Given the description of an element on the screen output the (x, y) to click on. 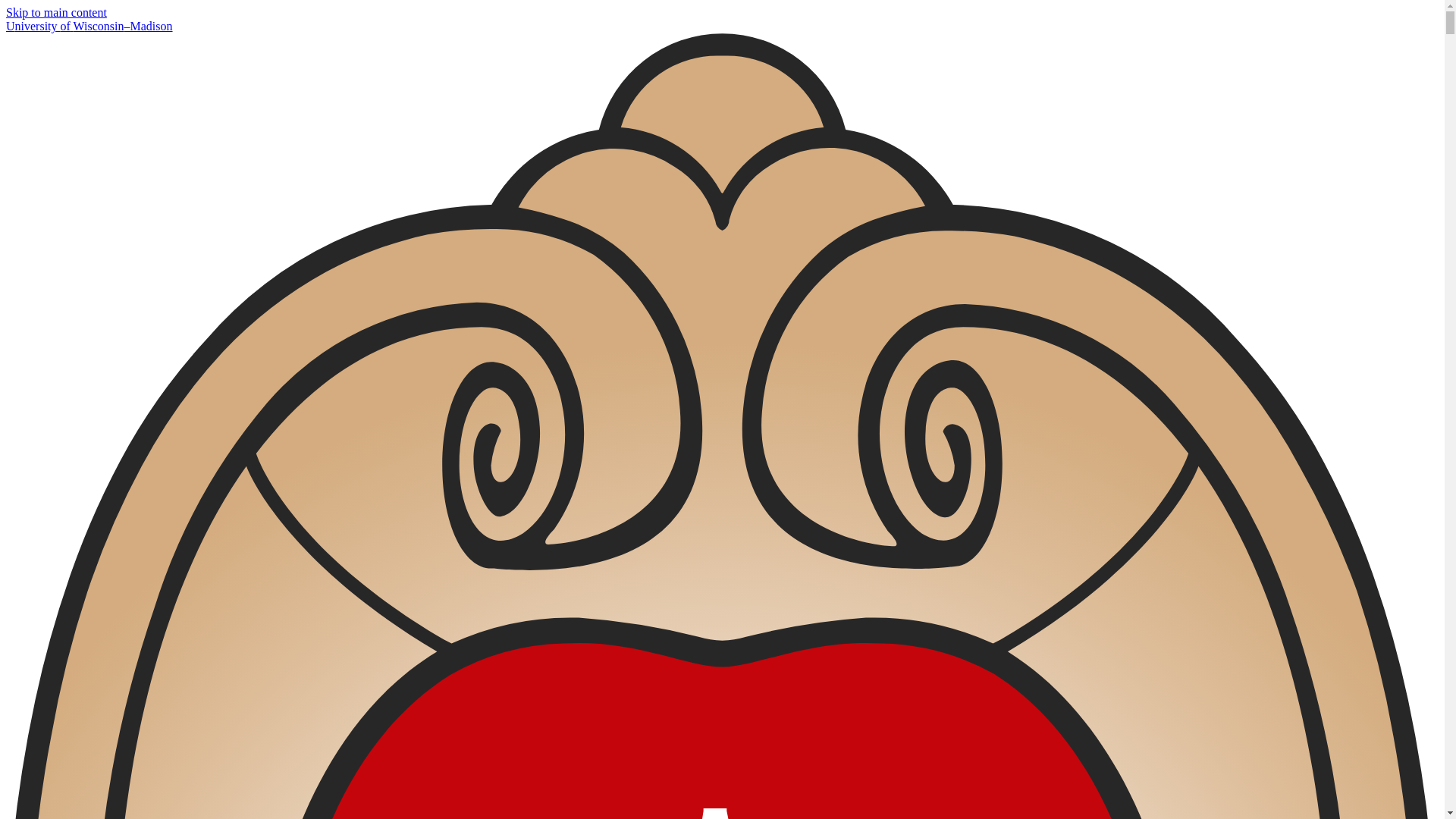
Skip to main content (55, 11)
